Given the description of an element on the screen output the (x, y) to click on. 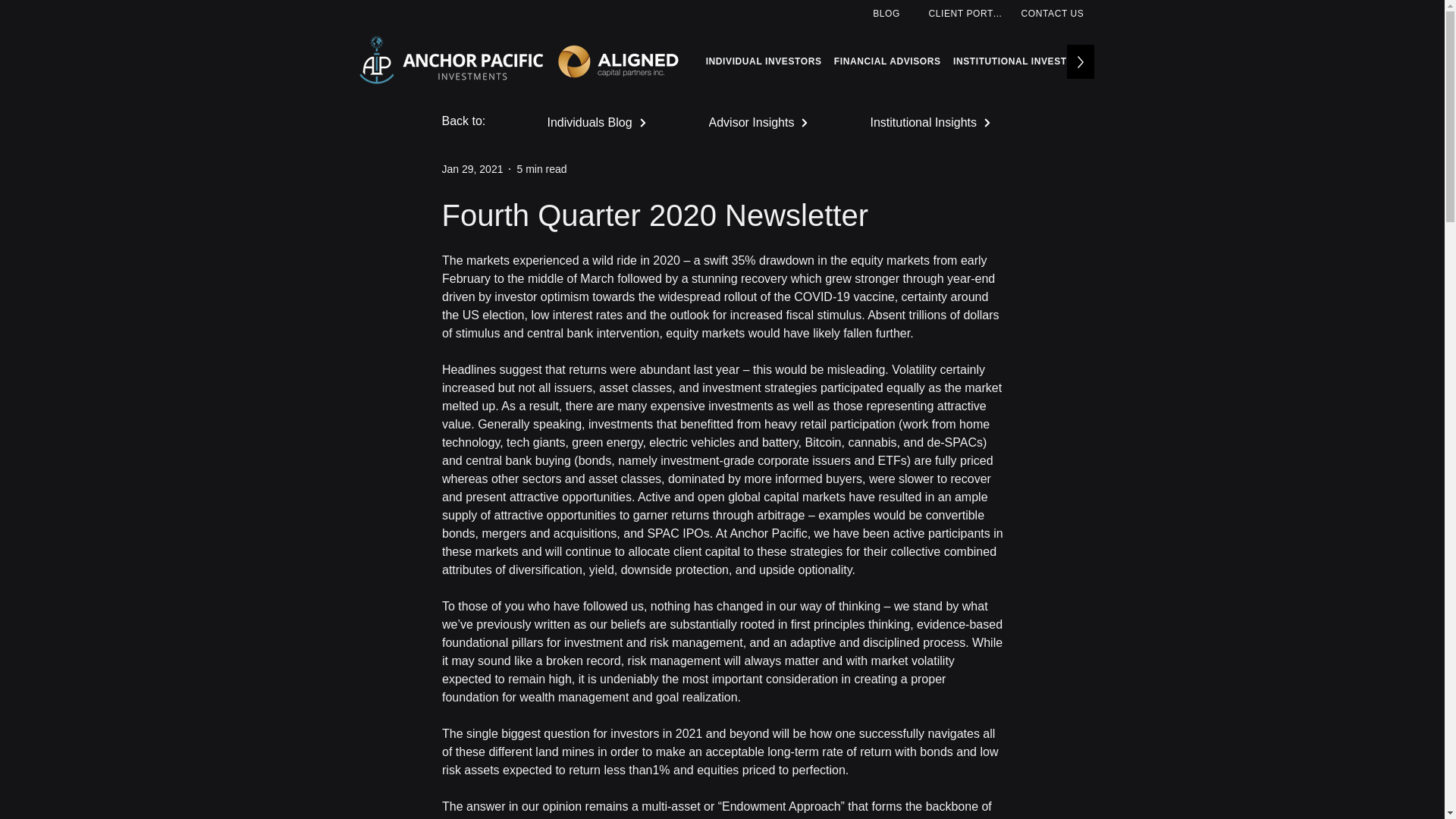
5 min read (541, 168)
CONTACT US (1054, 13)
CLIENT PORTAL (967, 13)
BLOG (888, 13)
Jan 29, 2021 (471, 168)
